Given the description of an element on the screen output the (x, y) to click on. 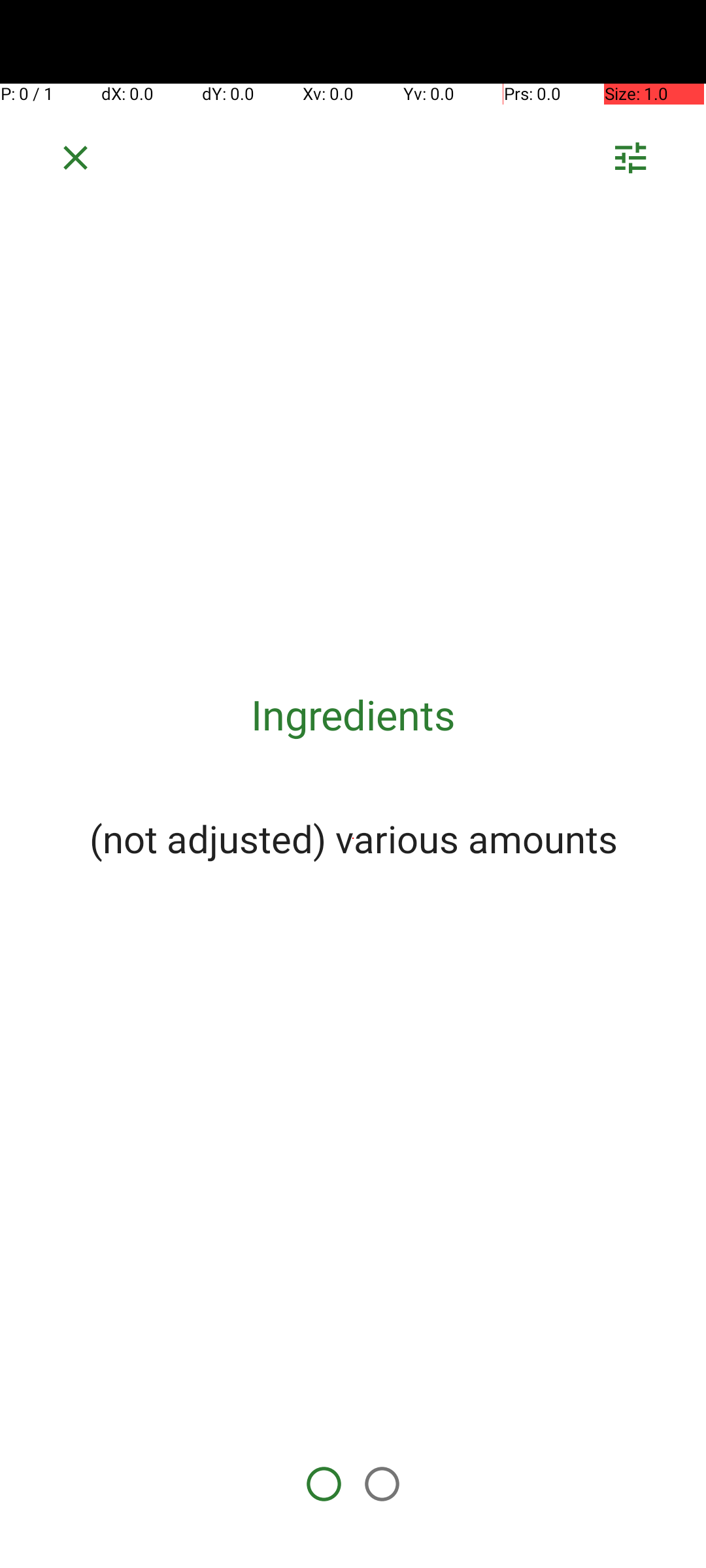
(not adjusted) various amounts Element type: android.widget.TextView (352, 838)
